Given the description of an element on the screen output the (x, y) to click on. 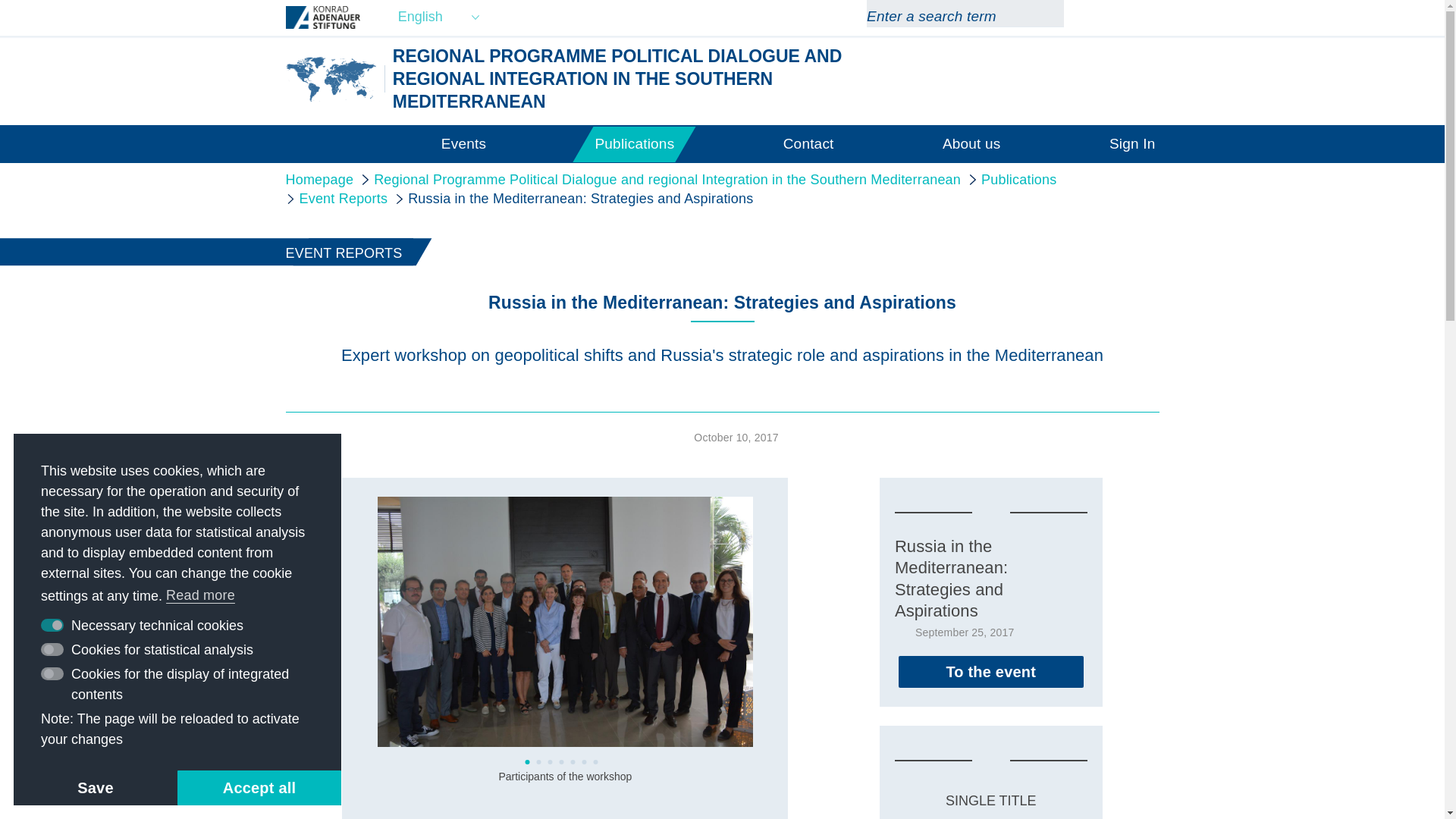
Read more (201, 595)
Skip to Main Content (3, 3)
Accept all (258, 787)
Participants of the workshop (564, 621)
Print (301, 492)
About us (971, 142)
Events (463, 142)
Sign In (1132, 142)
Publications (634, 142)
Save (95, 787)
Facebook (1122, 16)
Facebook (1122, 17)
Twitter (1149, 16)
Share (301, 561)
